Given the description of an element on the screen output the (x, y) to click on. 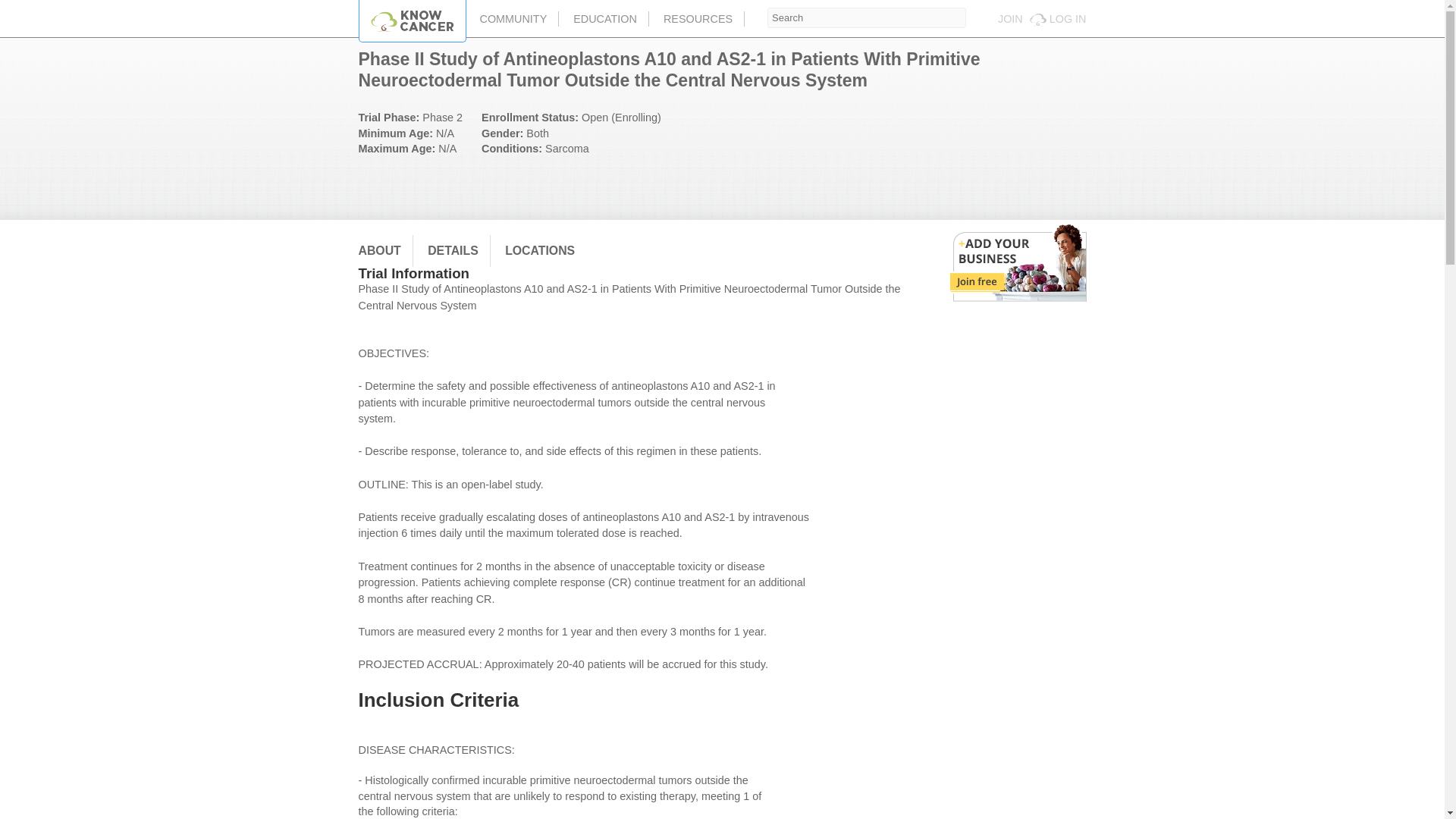
EDUCATION (605, 18)
COMMUNITY (513, 18)
Search (866, 17)
Know Cancer (412, 20)
RESOURCES (698, 18)
